Given the description of an element on the screen output the (x, y) to click on. 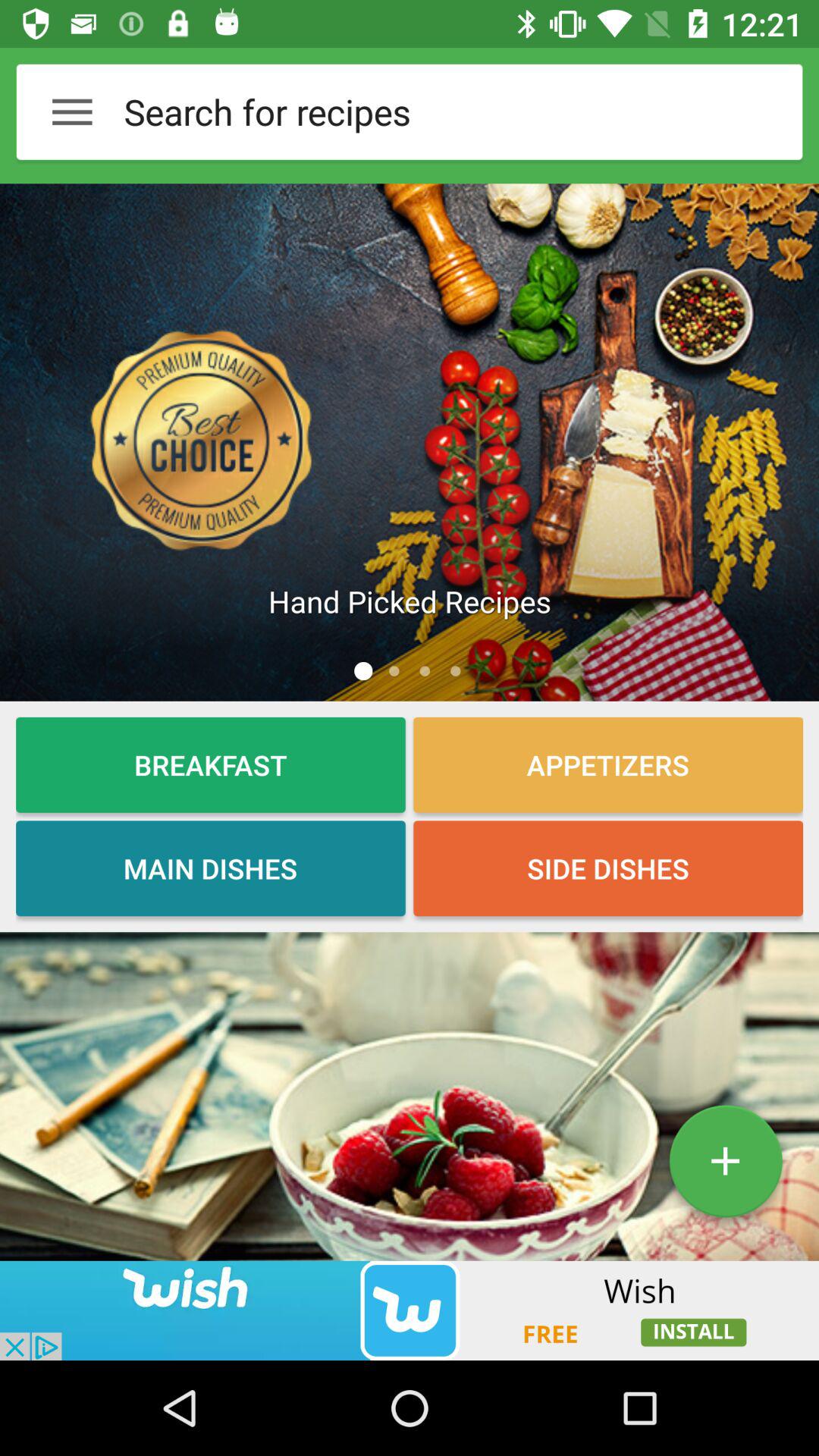
click on the button which is below the breakfast (210, 868)
click on the button which is next to the breakfast (608, 764)
click on the menu button on the left top corner of the page (72, 111)
